Given the description of an element on the screen output the (x, y) to click on. 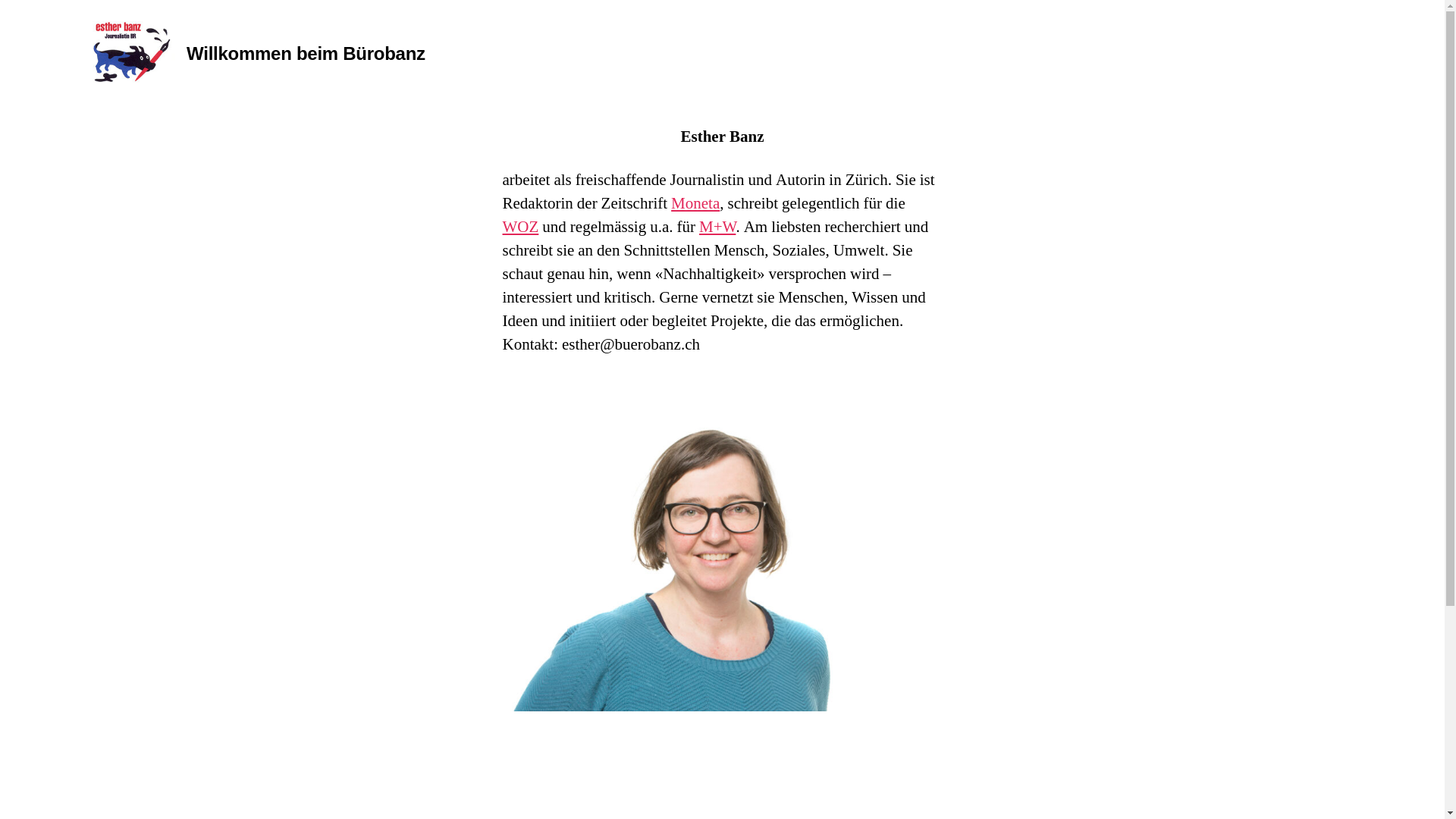
WOZ Element type: text (520, 226)
Moneta Element type: text (695, 203)
M+W Element type: text (717, 226)
